Given the description of an element on the screen output the (x, y) to click on. 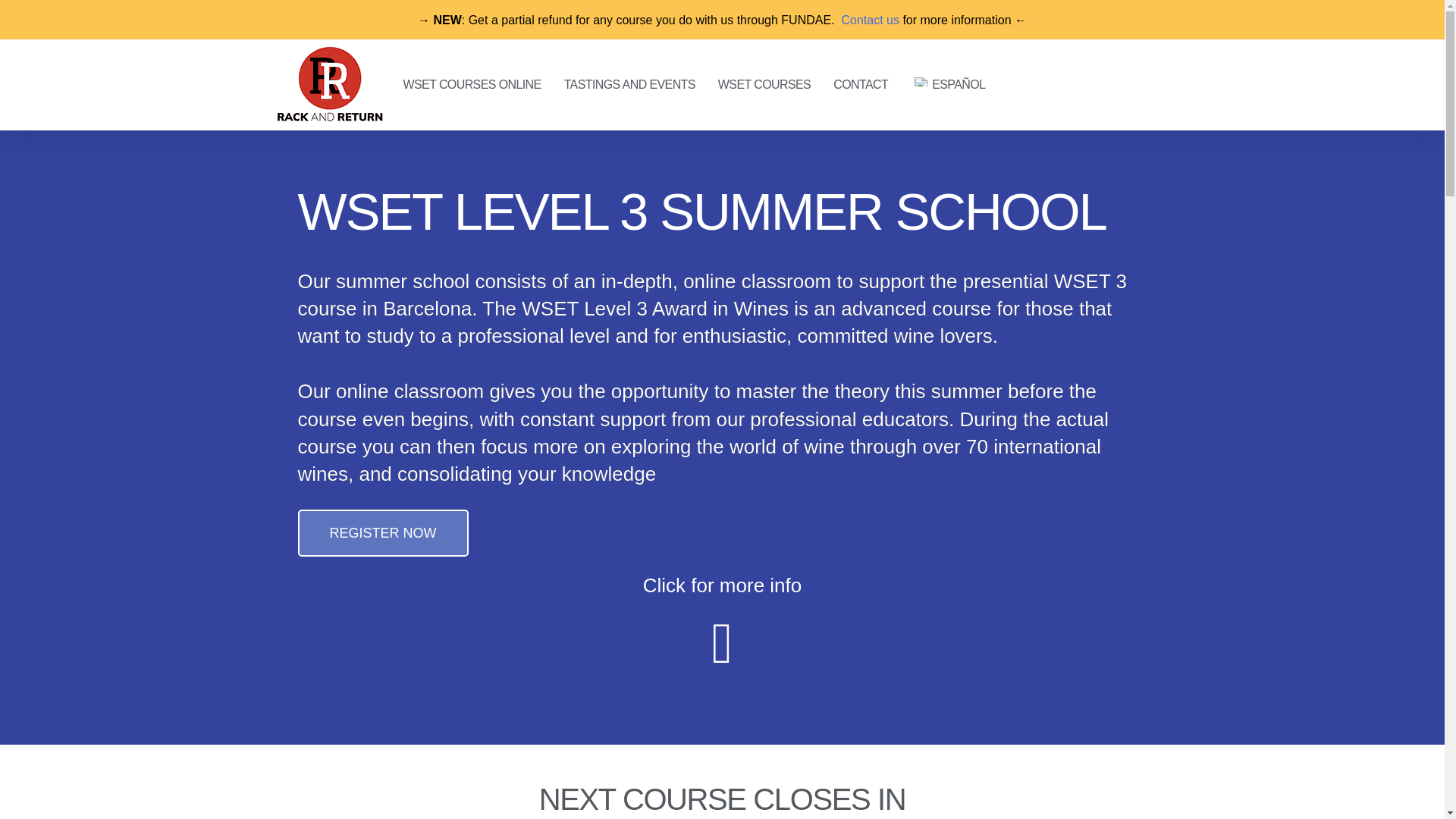
REGISTER NOW (382, 532)
CONTACT (860, 84)
WSET COURSES ONLINE (471, 84)
TASTINGS AND EVENTS (629, 84)
Contact us (869, 19)
WSET COURSES (764, 84)
